Given the description of an element on the screen output the (x, y) to click on. 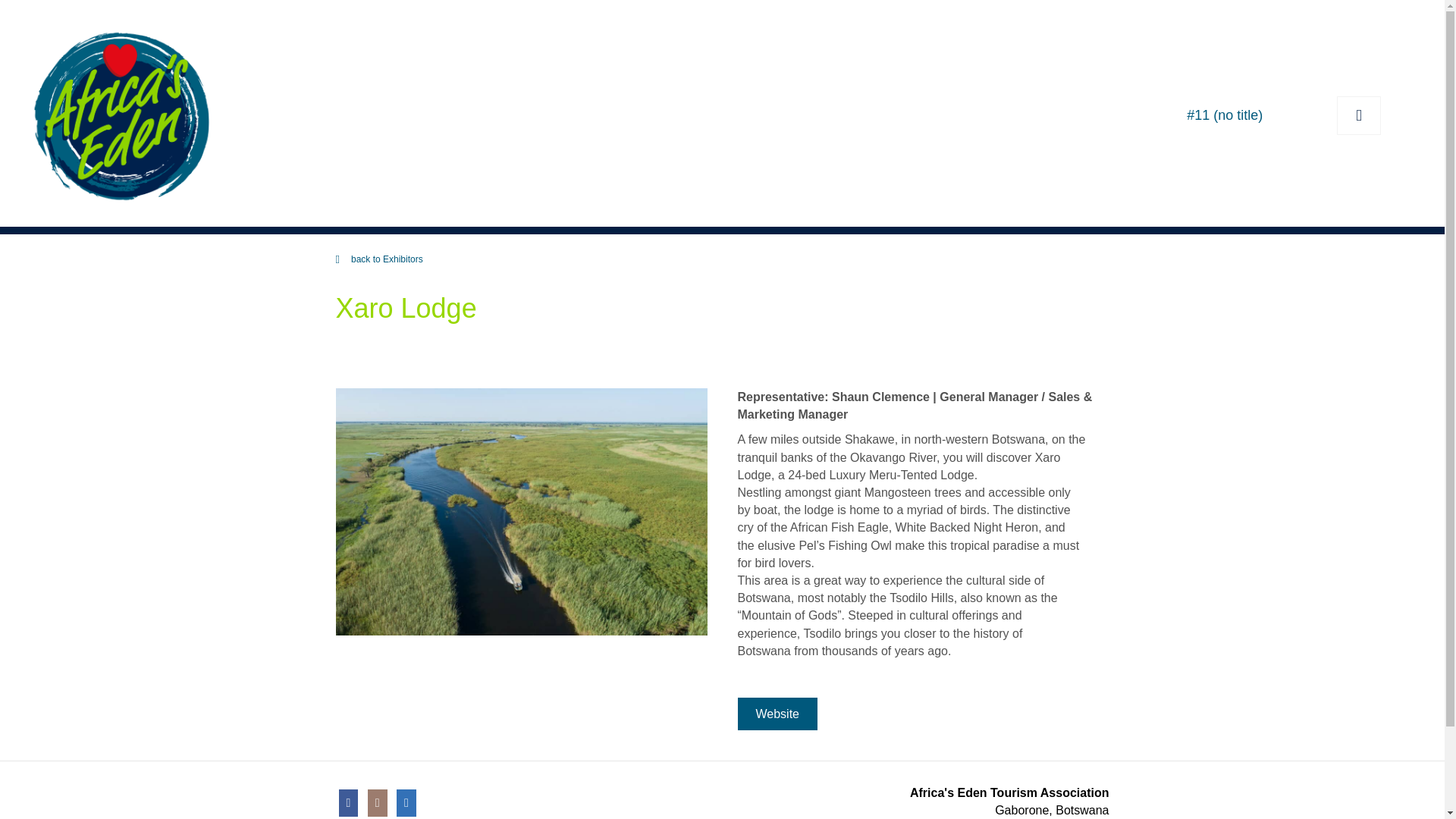
Africas-Eden-Logo-new (120, 114)
Website (776, 713)
back to Exhibitors (386, 259)
